Given the description of an element on the screen output the (x, y) to click on. 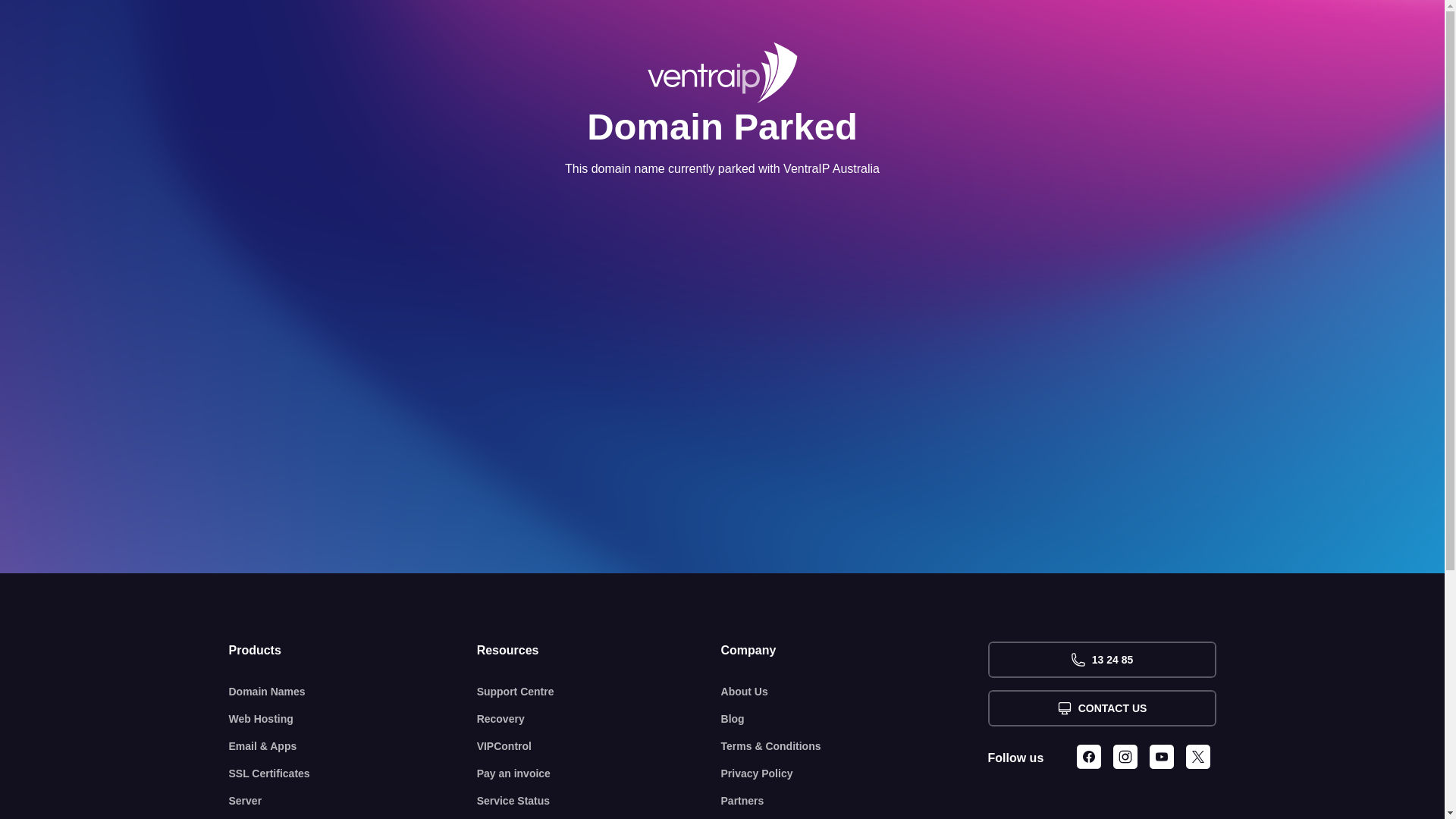
Email & Apps Element type: text (352, 745)
CONTACT US Element type: text (1101, 708)
13 24 85 Element type: text (1101, 659)
About Us Element type: text (854, 691)
Privacy Policy Element type: text (854, 773)
Domain Names Element type: text (352, 691)
Service Status Element type: text (598, 800)
Blog Element type: text (854, 718)
Pay an invoice Element type: text (598, 773)
Support Centre Element type: text (598, 691)
Terms & Conditions Element type: text (854, 745)
Web Hosting Element type: text (352, 718)
VIPControl Element type: text (598, 745)
Server Element type: text (352, 800)
SSL Certificates Element type: text (352, 773)
Recovery Element type: text (598, 718)
Partners Element type: text (854, 800)
